Given the description of an element on the screen output the (x, y) to click on. 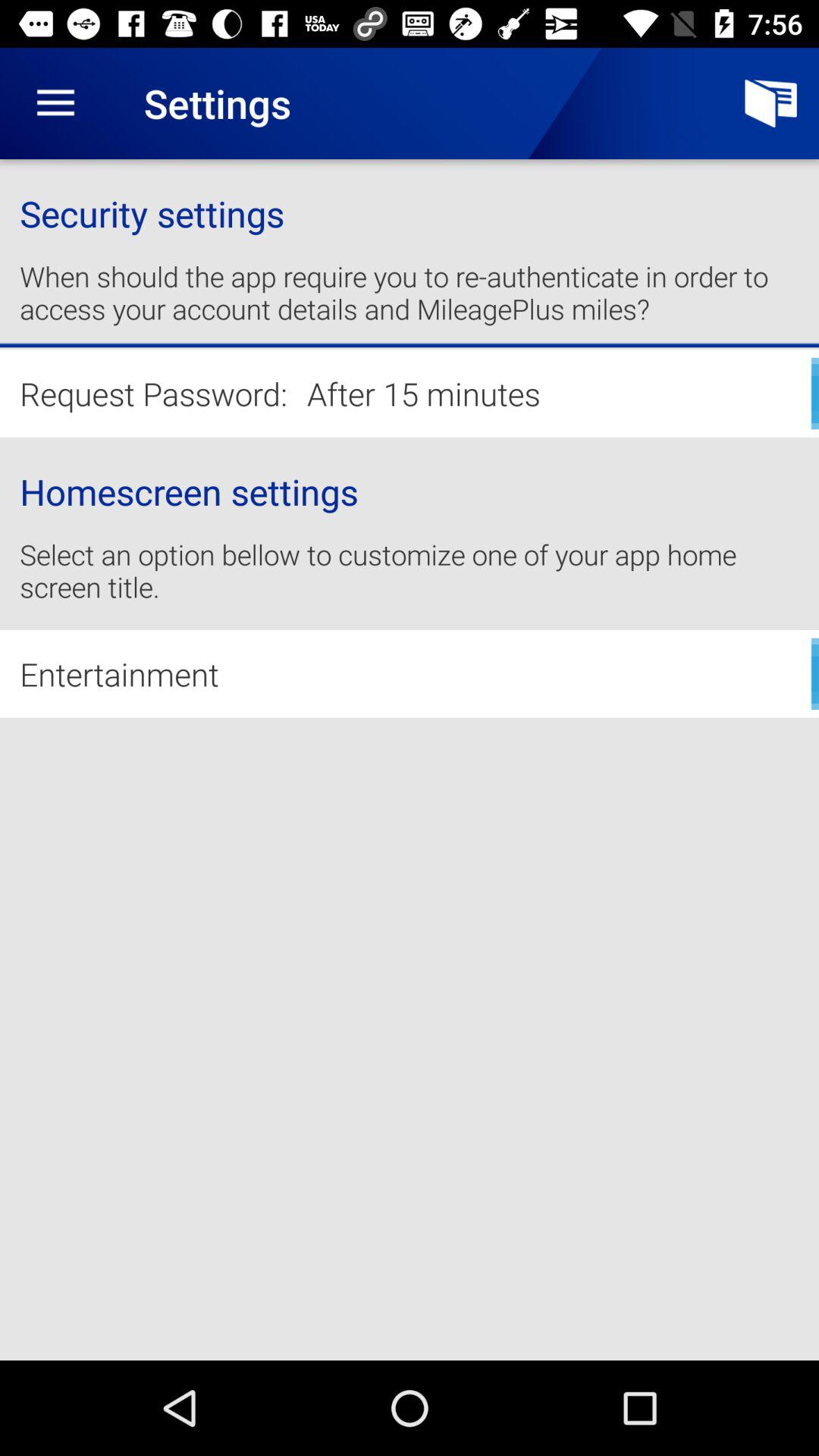
swipe to entertainment icon (409, 673)
